Given the description of an element on the screen output the (x, y) to click on. 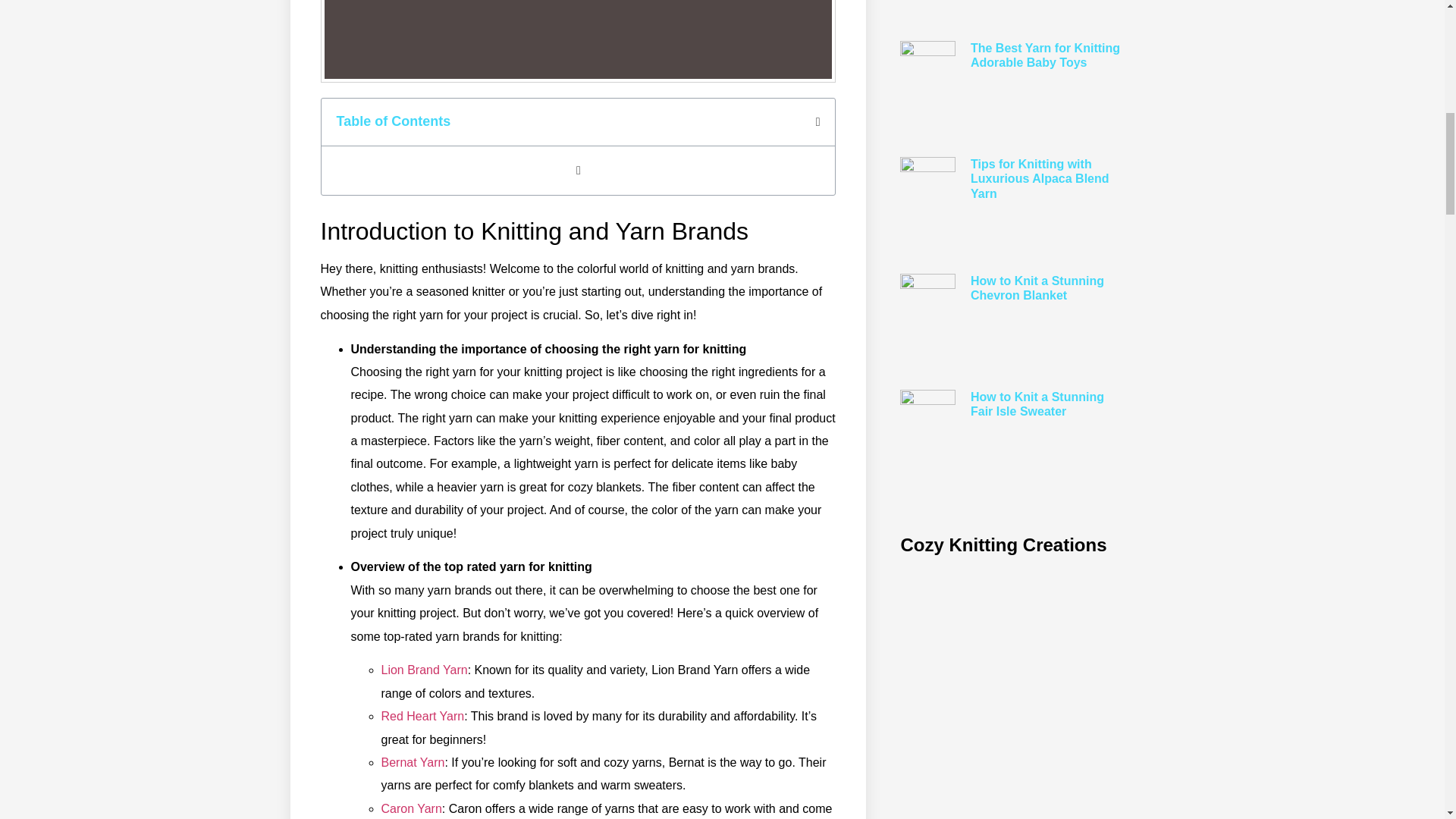
Lion Brand Yarn (423, 669)
Caron Yarn (410, 808)
Bernat Yarn (412, 762)
The Best Yarn for Knitting Adorable Baby Toys (1045, 54)
Tips for Knitting with Luxurious Alpaca Blend Yarn (1040, 178)
Red Heart Yarn (422, 716)
